Given the description of an element on the screen output the (x, y) to click on. 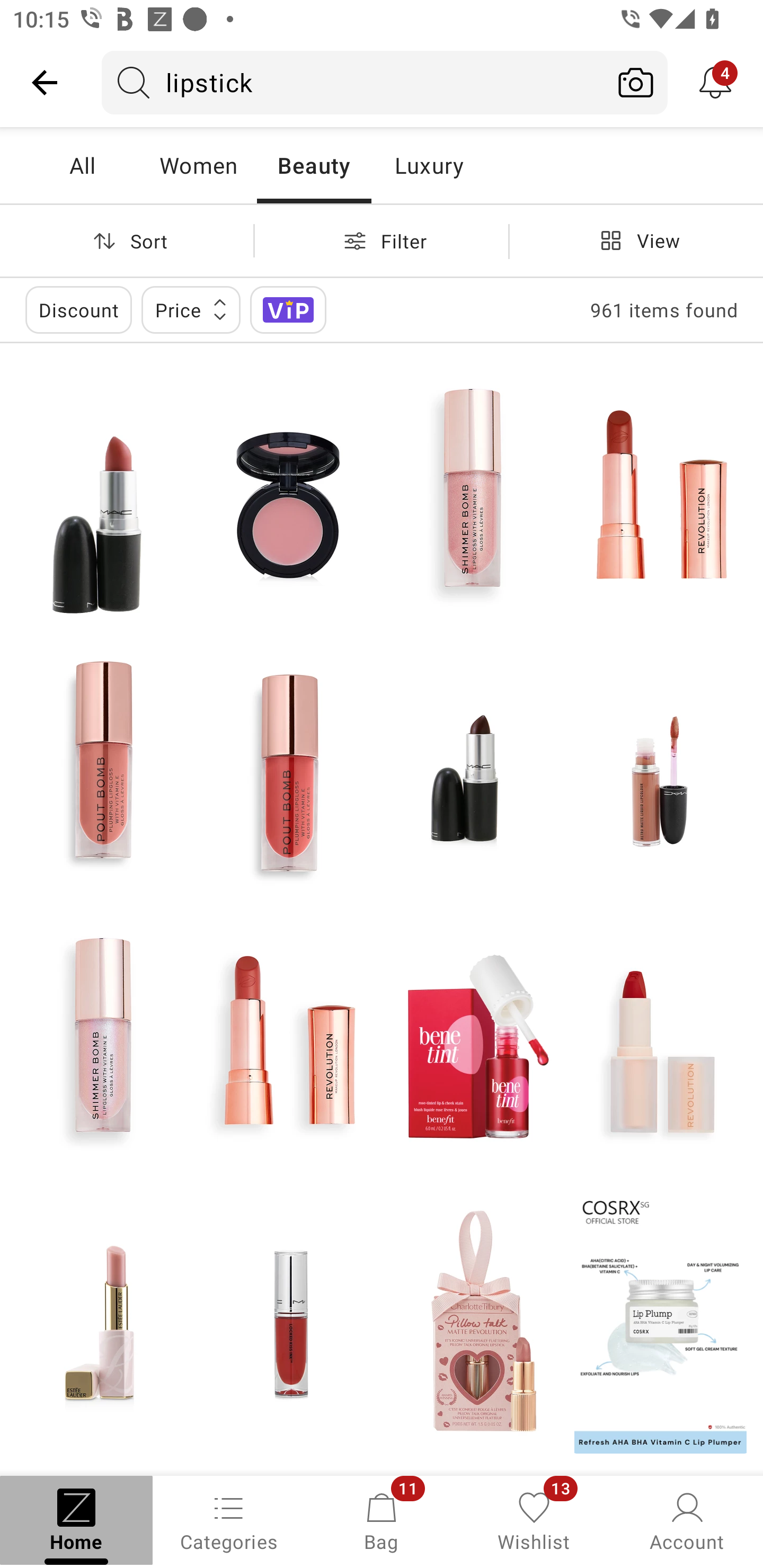
Navigate up (44, 82)
lipstick (352, 82)
All (82, 165)
Women (198, 165)
Luxury (428, 165)
Sort (126, 240)
Filter (381, 240)
View (636, 240)
Discount (78, 309)
Price (190, 309)
Categories (228, 1519)
Bag, 11 new notifications Bag (381, 1519)
Wishlist, 13 new notifications Wishlist (533, 1519)
Account (686, 1519)
